Given the description of an element on the screen output the (x, y) to click on. 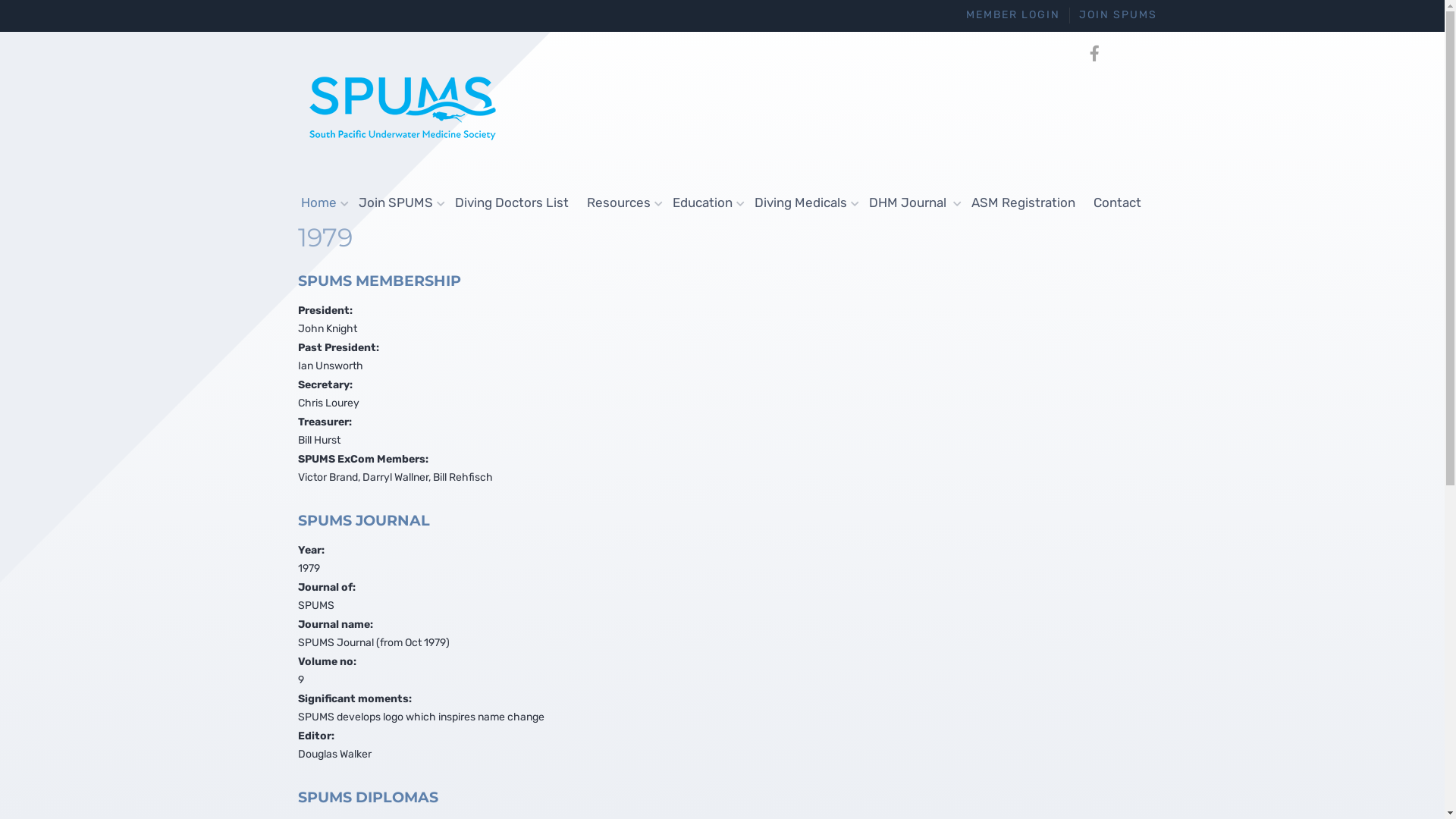
Join SPUMS Element type: text (396, 202)
Emergency numbers Element type: text (1119, 53)
JOIN SPUMS Element type: text (1117, 15)
Diving Doctors List Element type: text (511, 202)
South Pacific Underwater Medicine Society  Element type: hover (403, 106)
Home Element type: text (319, 202)
Resources Element type: text (620, 202)
ASM Registration Element type: text (1022, 202)
MEMBER LOGIN Element type: text (1013, 15)
Education Element type: text (703, 202)
DHM Journal Element type: text (911, 202)
Contact Element type: text (1117, 202)
Diving Medicals Element type: text (801, 202)
Facebook Element type: text (1094, 53)
